Given the description of an element on the screen output the (x, y) to click on. 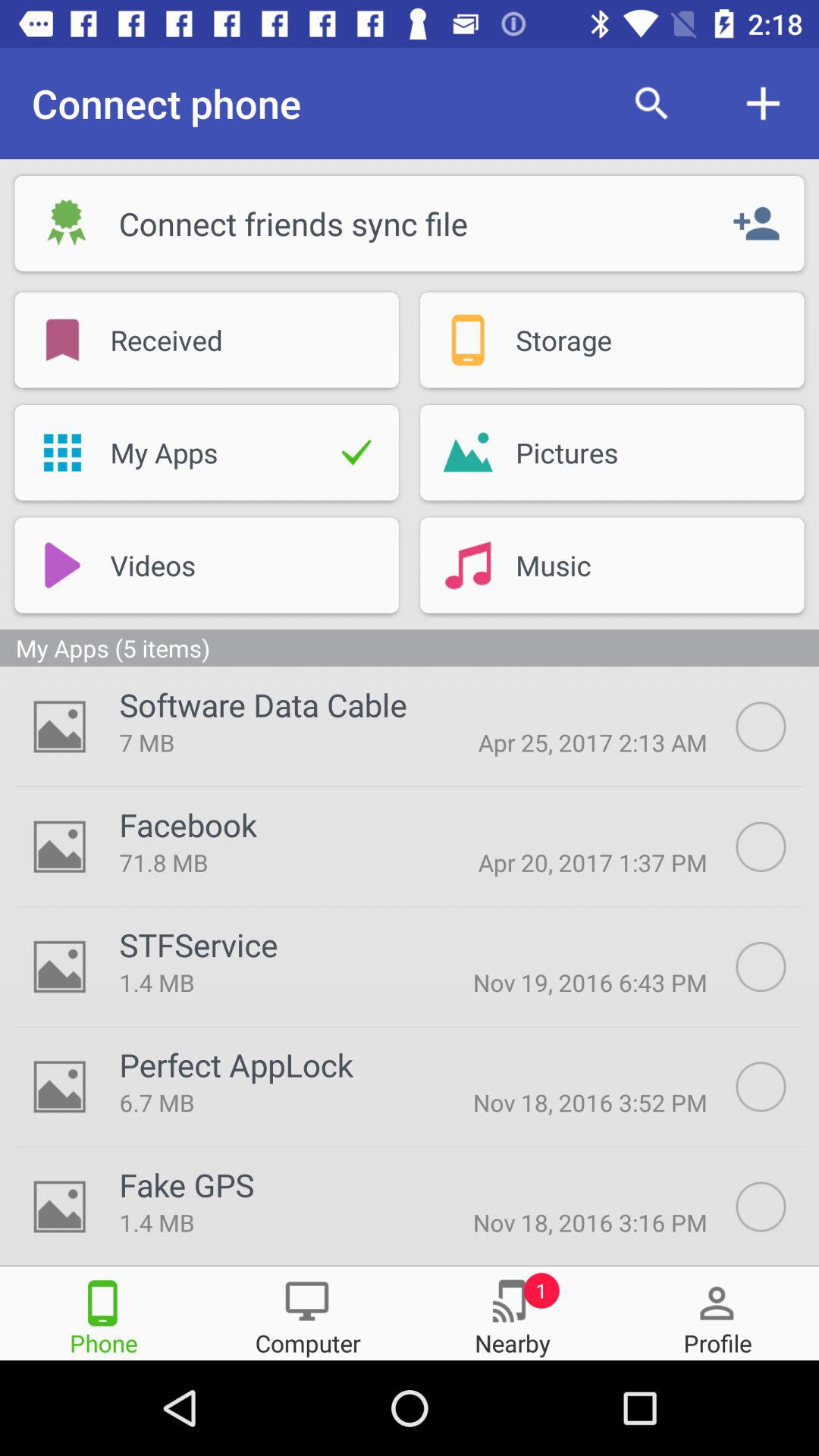
click app above my apps 5 item (62, 565)
